Given the description of an element on the screen output the (x, y) to click on. 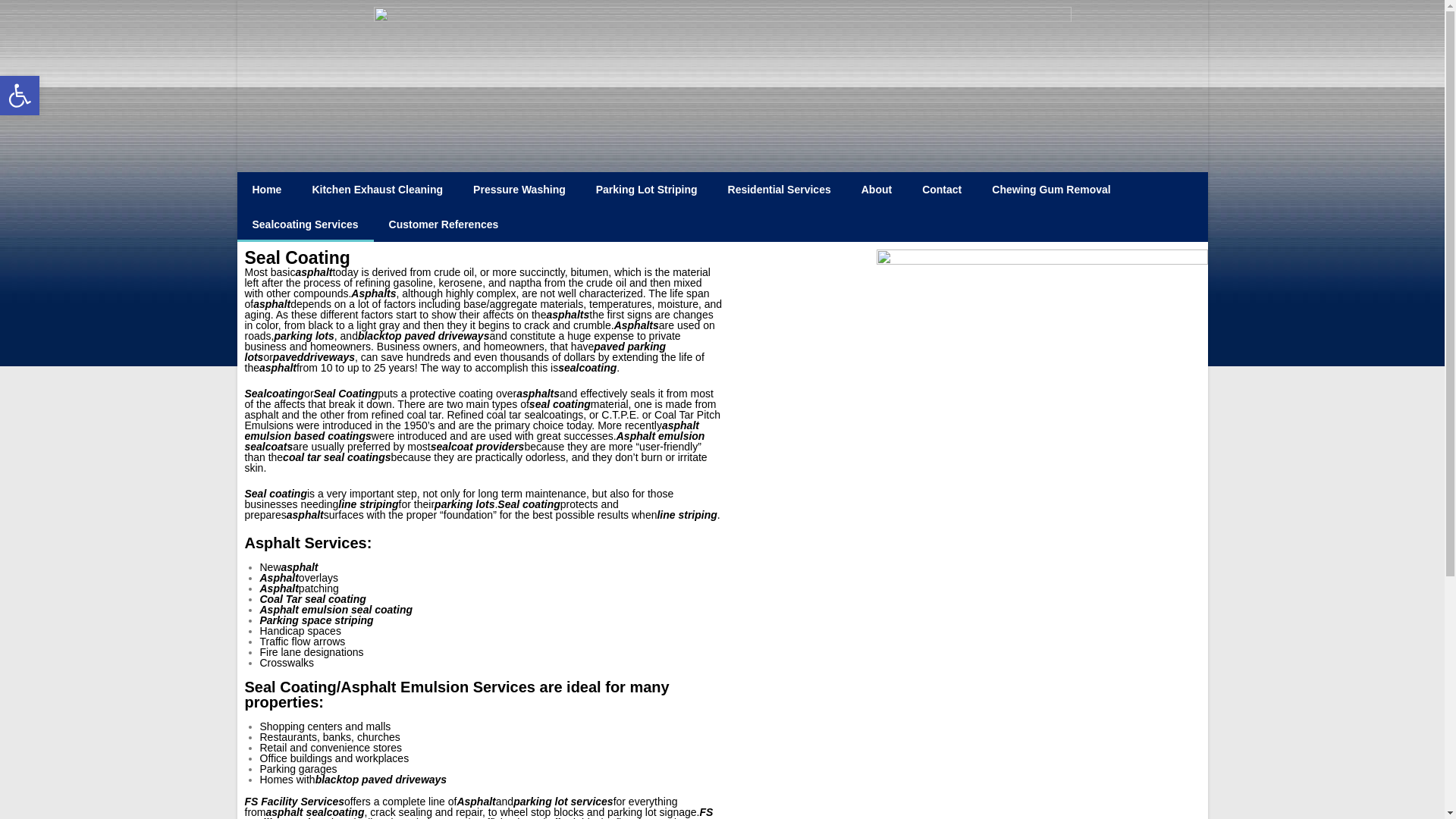
Contact (19, 95)
About (941, 189)
Chewing Gum Removal (876, 189)
Kitchen Exhaust Cleaning (1050, 189)
Accessibility Tools (377, 189)
Sealcoating Services (19, 95)
Parking Lot Striping (303, 224)
Accessibility Tools (646, 189)
Customer References (19, 95)
Pressure Washing (443, 224)
Home (519, 189)
Residential Services (266, 189)
